Given the description of an element on the screen output the (x, y) to click on. 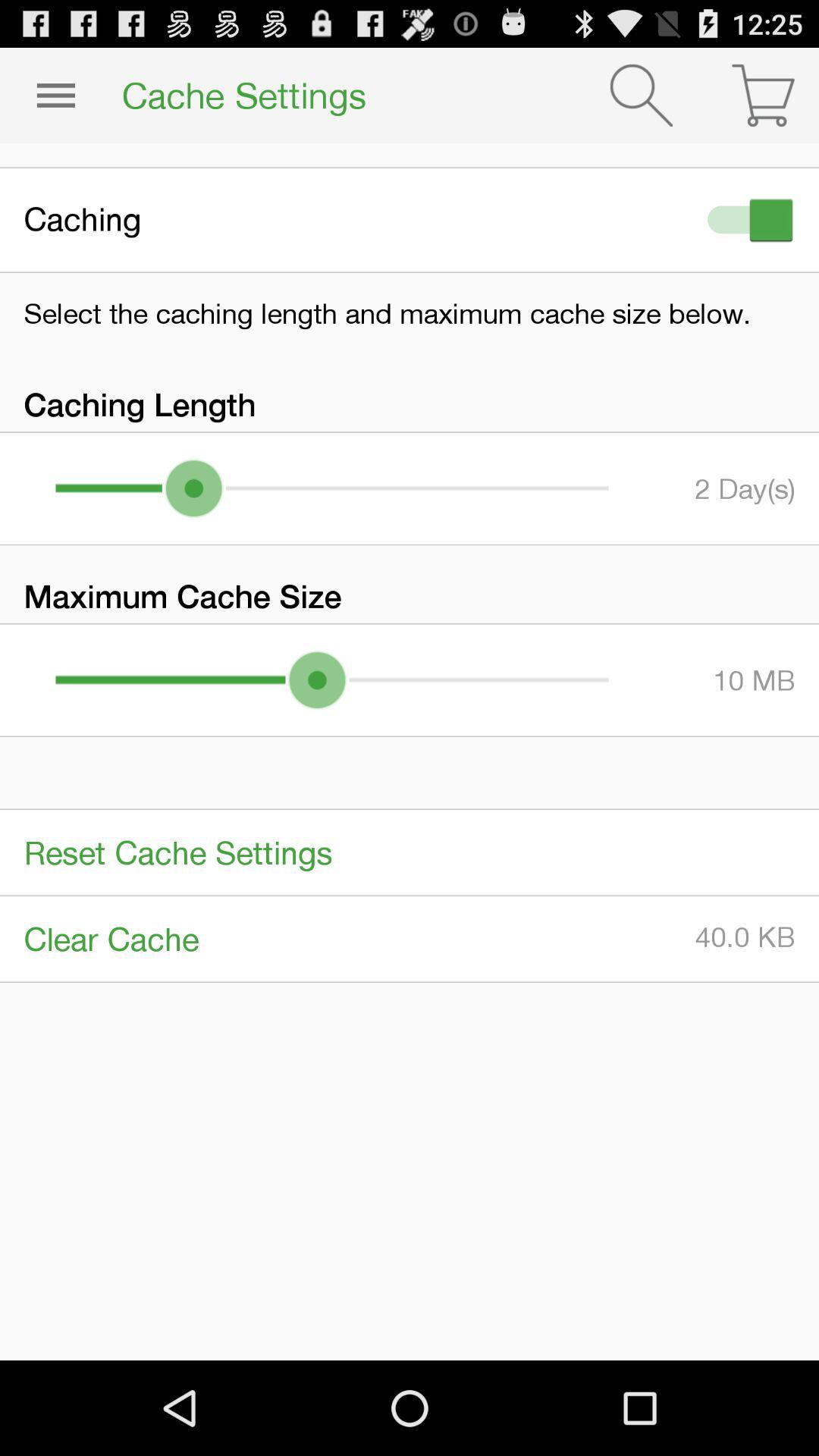
search for something (641, 95)
